Given the description of an element on the screen output the (x, y) to click on. 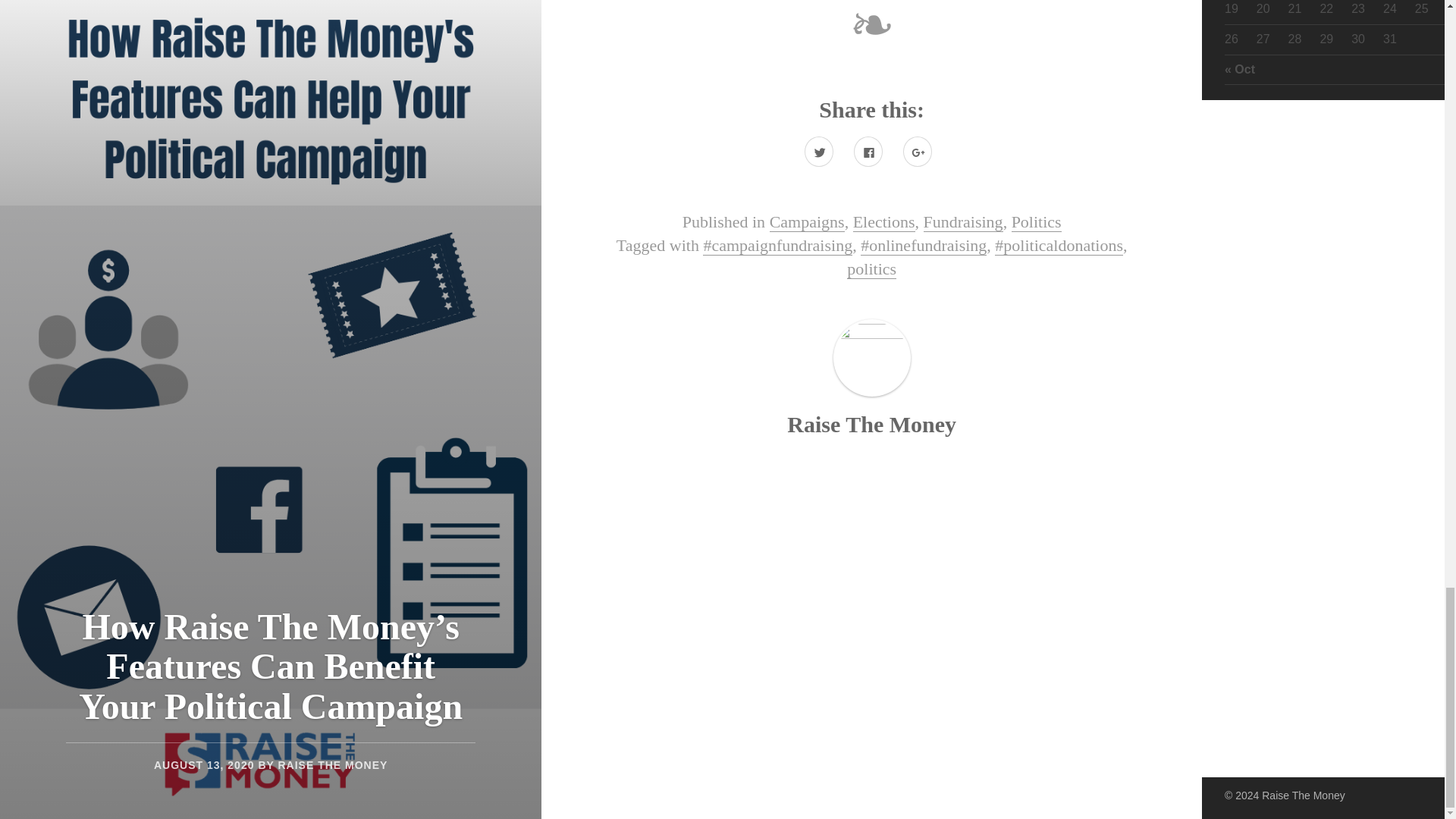
Click to share on Twitter (818, 151)
Posts by Raise The Money (871, 423)
Click to share on Facebook (867, 151)
